Given the description of an element on the screen output the (x, y) to click on. 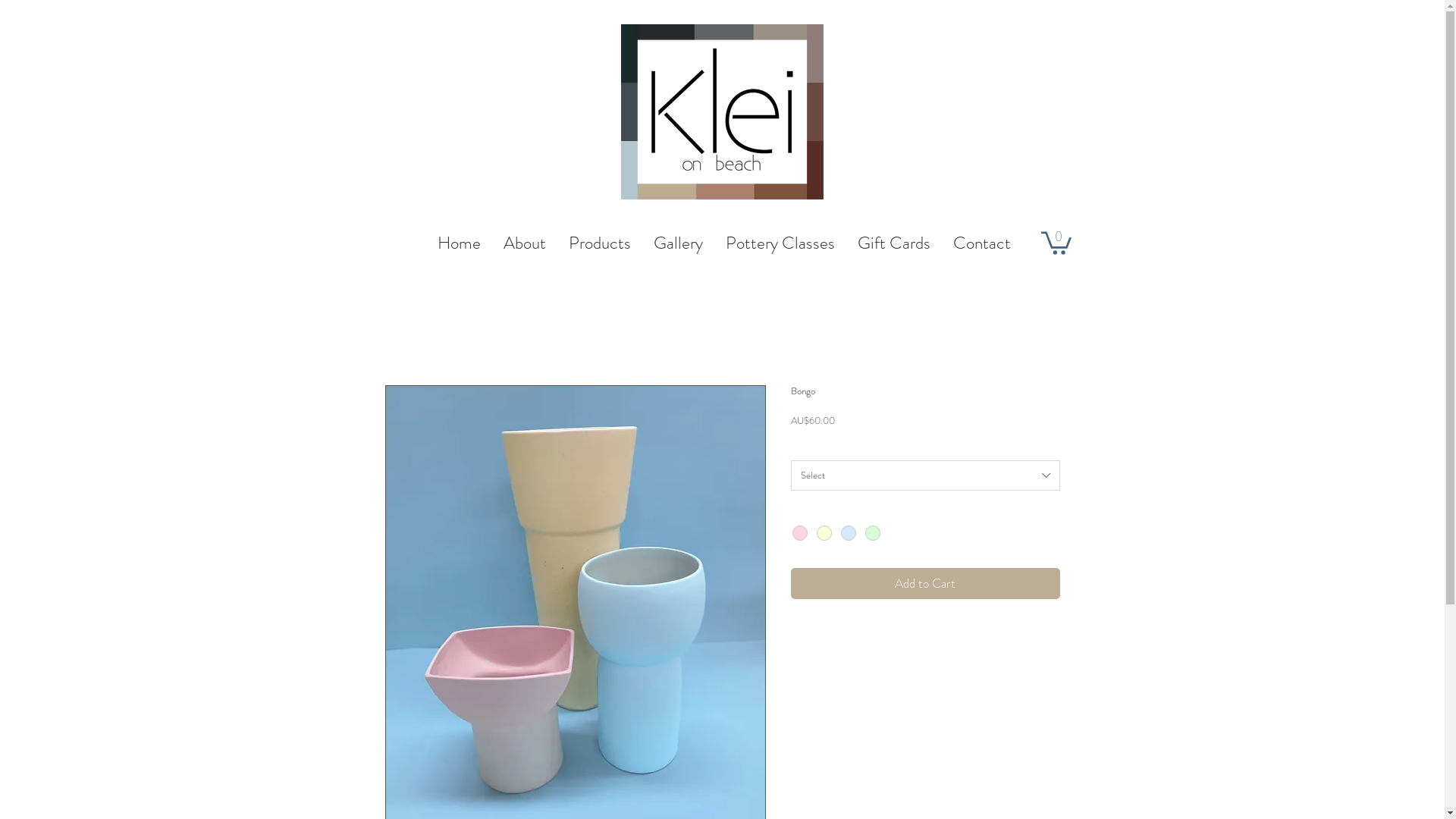
Add to Cart Element type: text (924, 583)
Gift Cards Element type: text (893, 242)
Pottery Classes Element type: text (780, 242)
Contact Element type: text (981, 242)
Gallery Element type: text (678, 242)
Home Element type: text (459, 242)
Products Element type: text (599, 242)
About Element type: text (524, 242)
Home Element type: text (397, 333)
Select Element type: text (924, 475)
Bongo Element type: text (429, 333)
0 Element type: text (1055, 241)
